Given the description of an element on the screen output the (x, y) to click on. 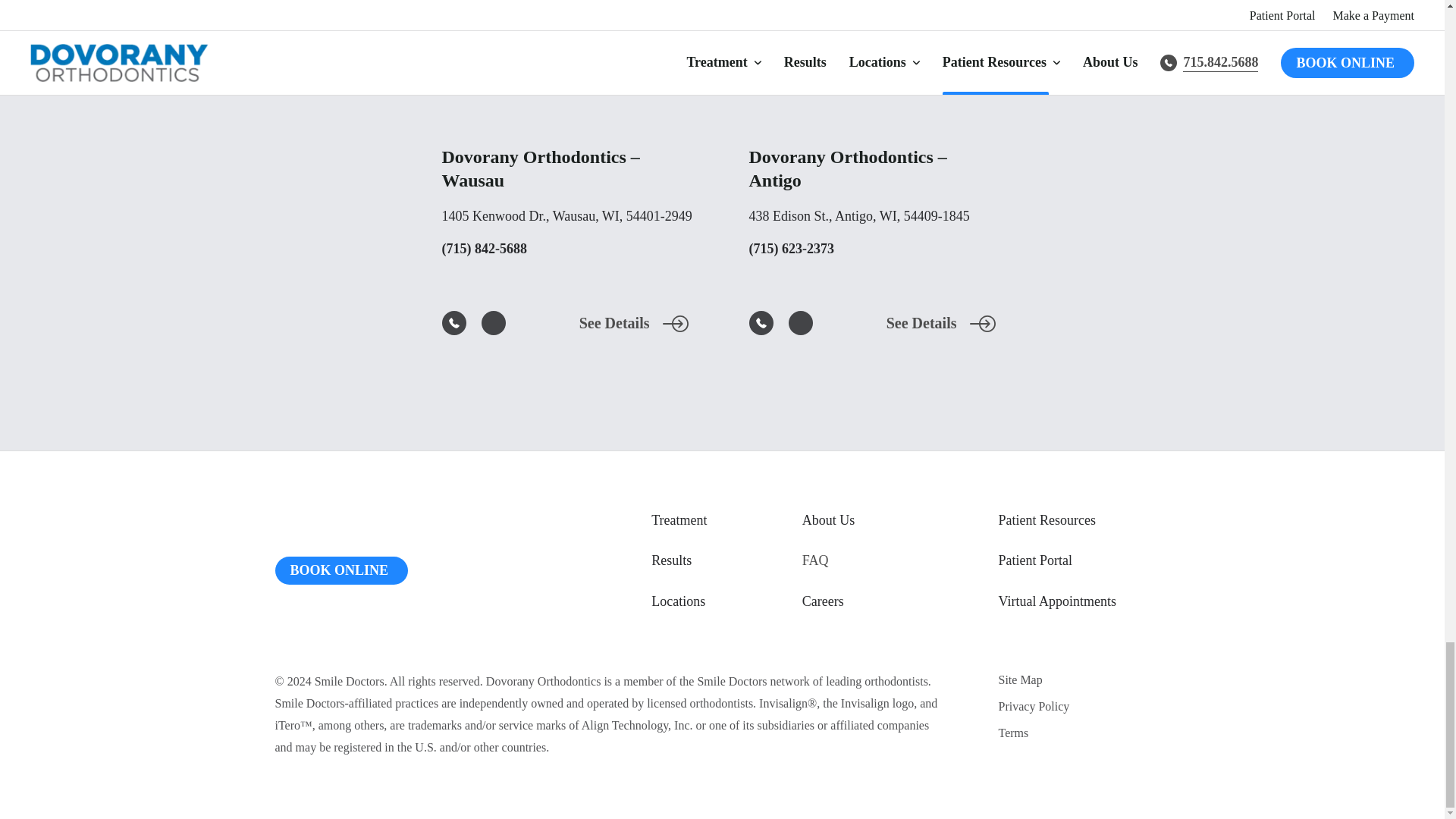
BOOK ONLINE (341, 570)
